Given the description of an element on the screen output the (x, y) to click on. 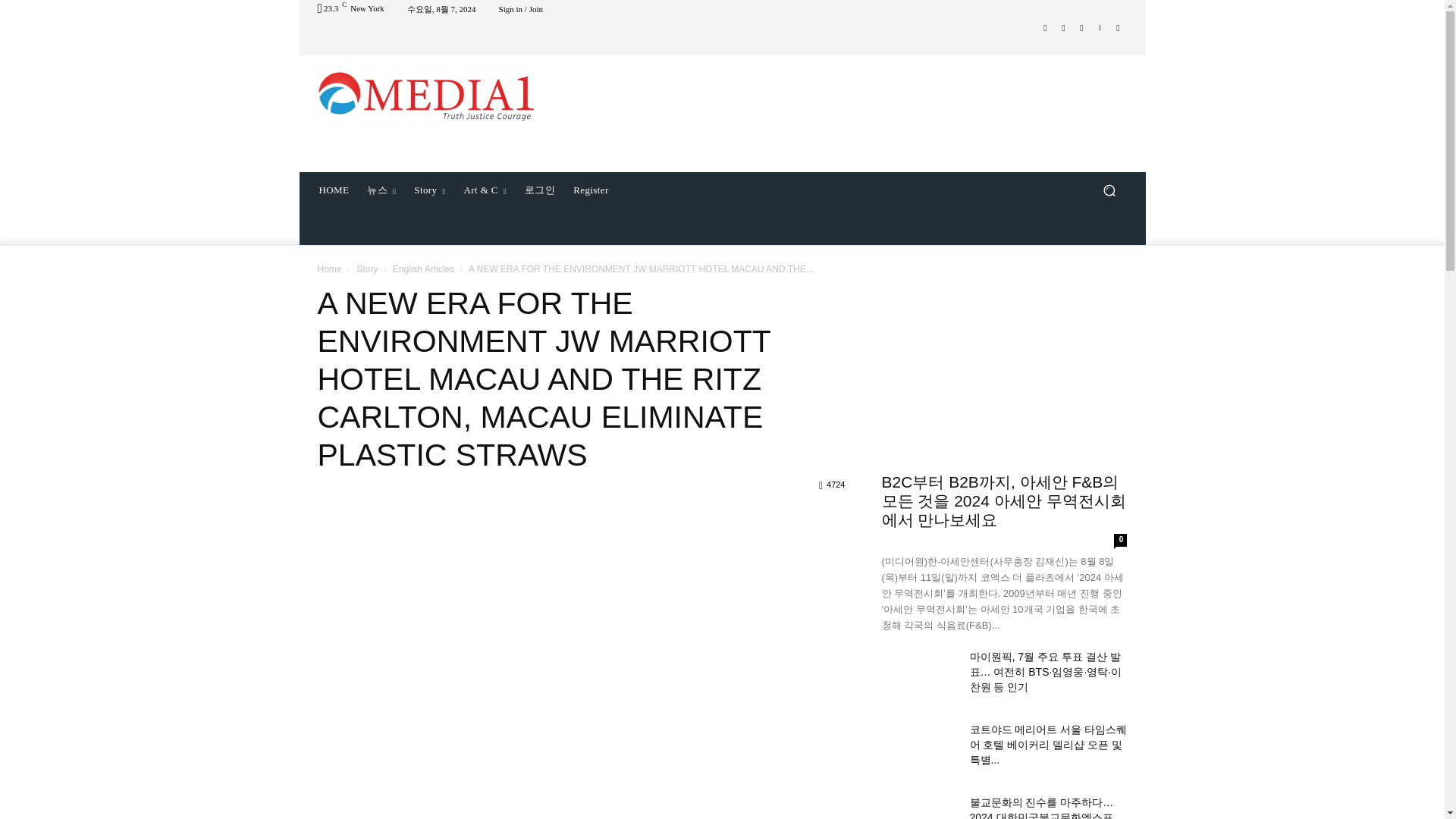
View all posts in Story (366, 268)
View all posts in English Articles (423, 268)
Instagram (1062, 27)
Twitter (1080, 27)
Facebook (1044, 27)
Youtube (1117, 27)
Vimeo (1099, 27)
